Given the description of an element on the screen output the (x, y) to click on. 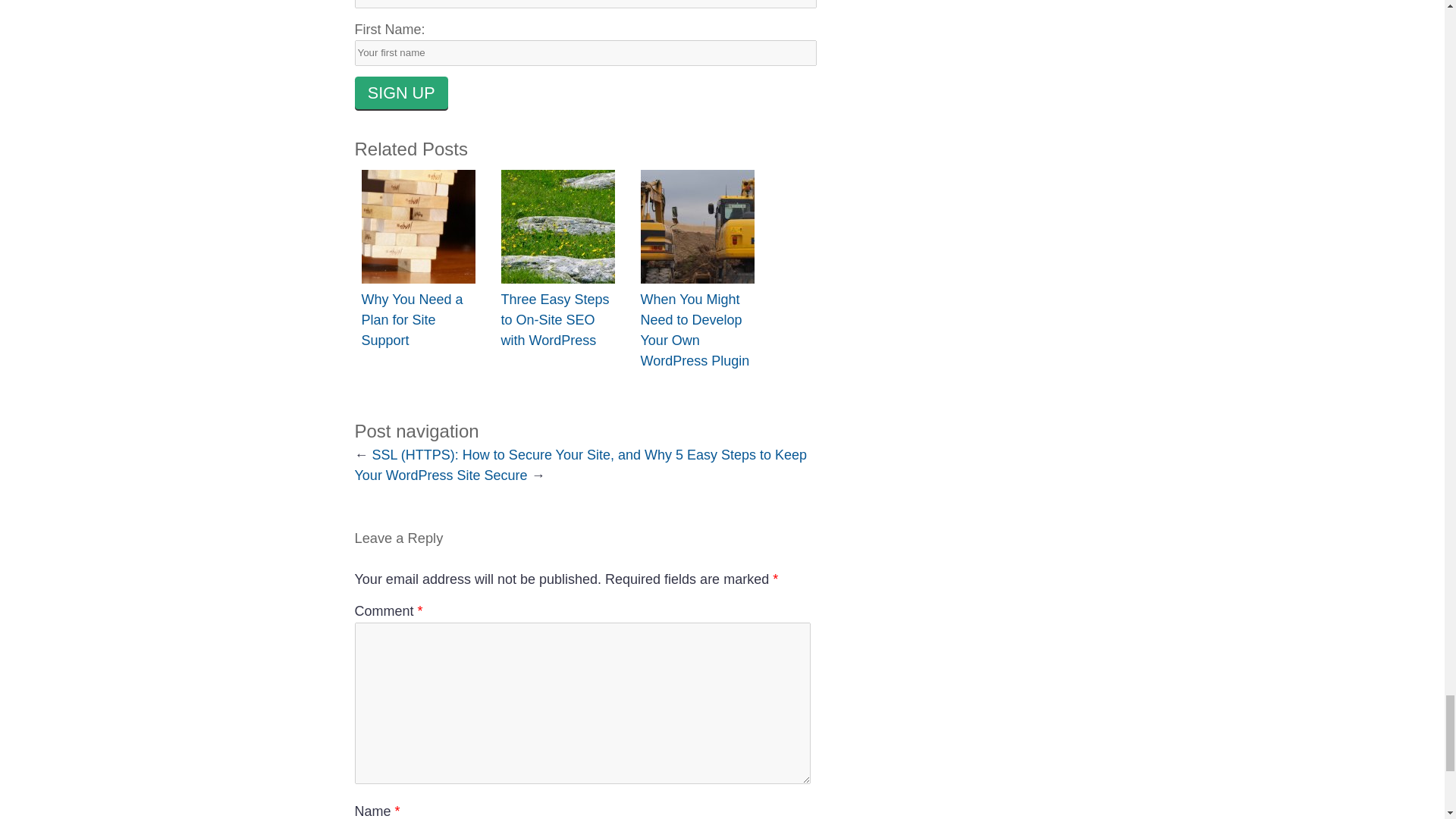
Three Easy Steps to On-Site SEO with WordPress (554, 319)
When You Might Need to Develop Your Own WordPress Plugin (694, 329)
Sign up (401, 92)
Sign up (401, 92)
Why You Need a Plan for Site Support (412, 319)
